Given the description of an element on the screen output the (x, y) to click on. 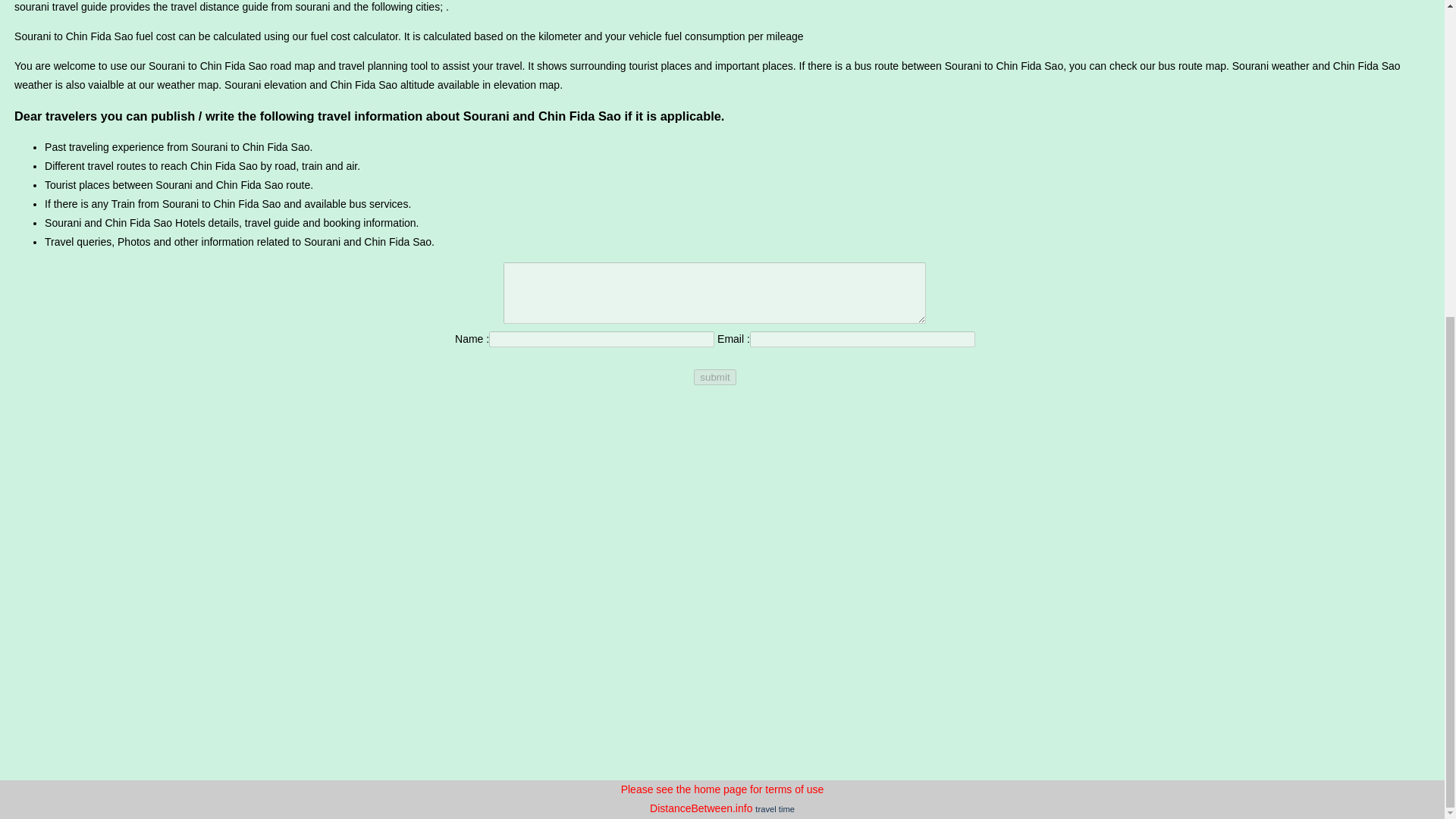
travel time (774, 809)
submit (714, 376)
submit (714, 376)
